Given the description of an element on the screen output the (x, y) to click on. 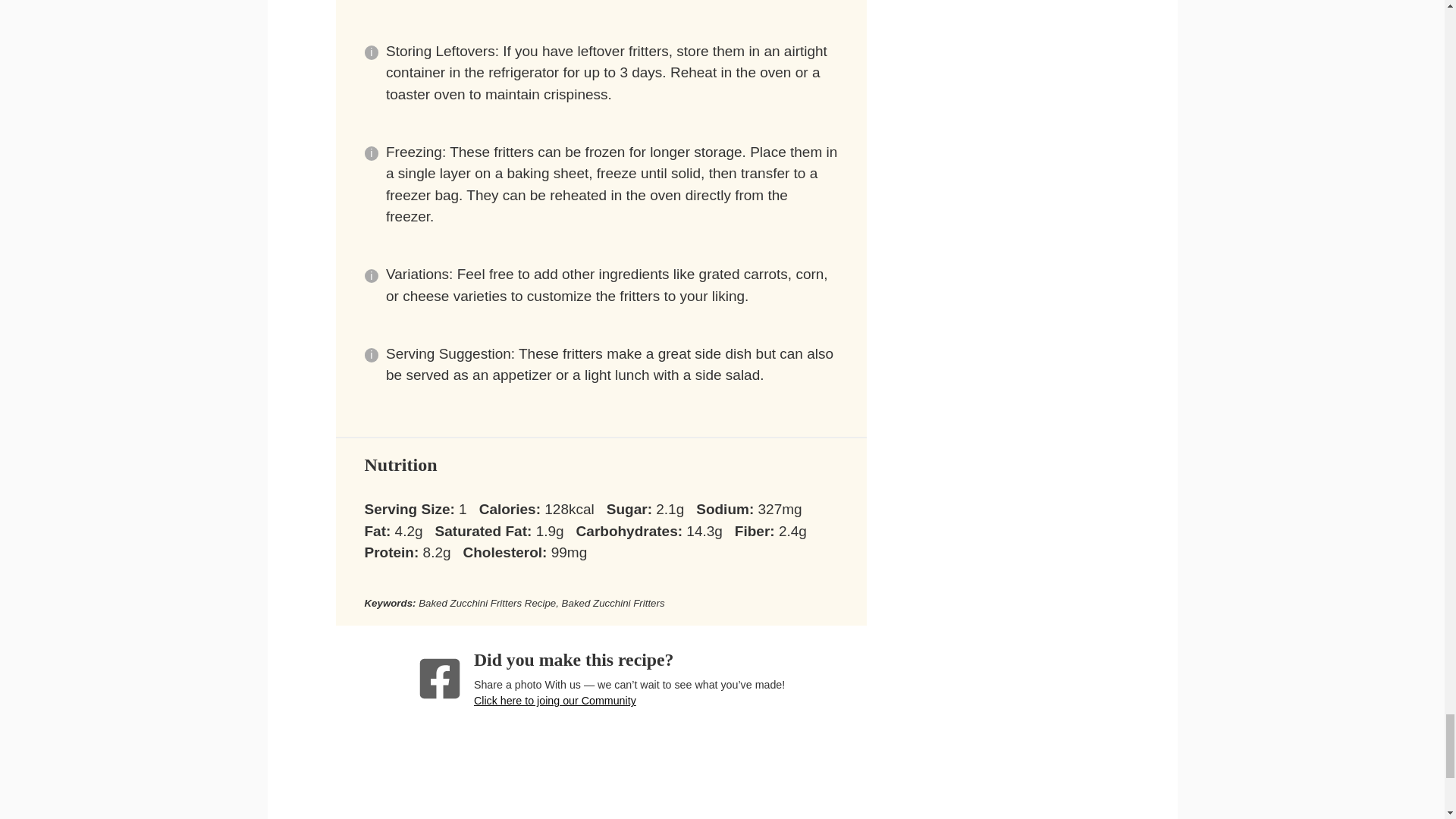
Click here to joing our Community (555, 700)
